Given the description of an element on the screen output the (x, y) to click on. 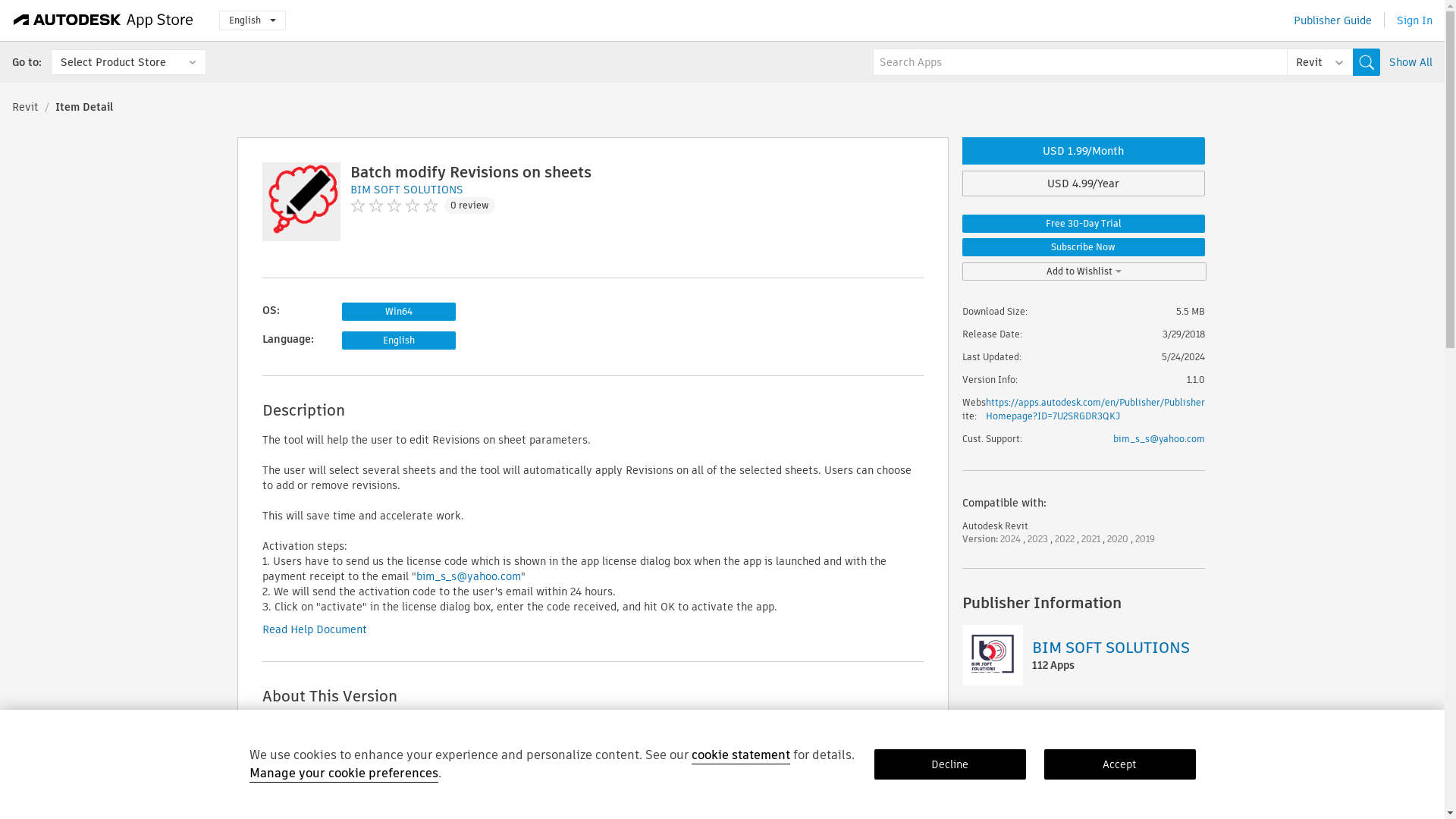
Select Product Store (128, 62)
Autodesk App Store (103, 20)
Sign In (1414, 20)
Publisher Guide (1332, 20)
Batch modify Revisions on sheets (470, 171)
English (252, 20)
